Given the description of an element on the screen output the (x, y) to click on. 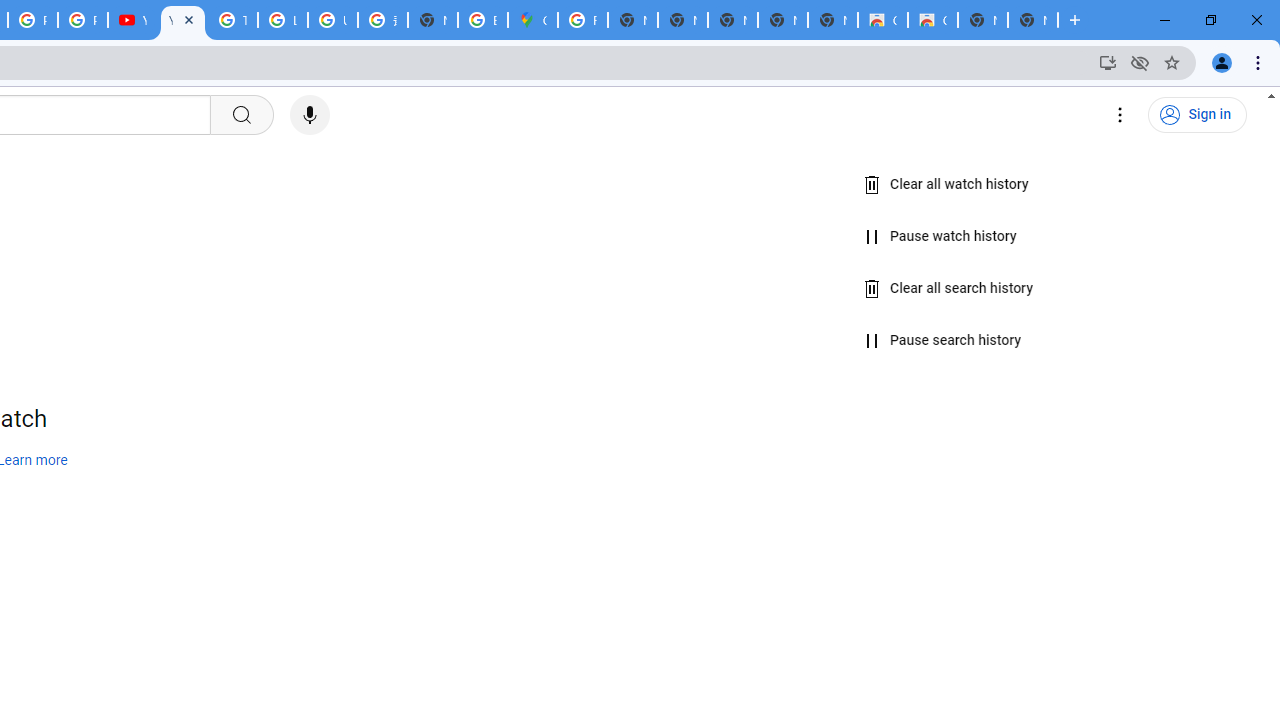
YouTube (182, 20)
Privacy Checkup (82, 20)
Pause search history (942, 341)
Install YouTube (1107, 62)
Google Maps (533, 20)
Pause watch history (940, 236)
New Tab (1032, 20)
Clear all search history (949, 288)
Clear all watch history (946, 185)
